Given the description of an element on the screen output the (x, y) to click on. 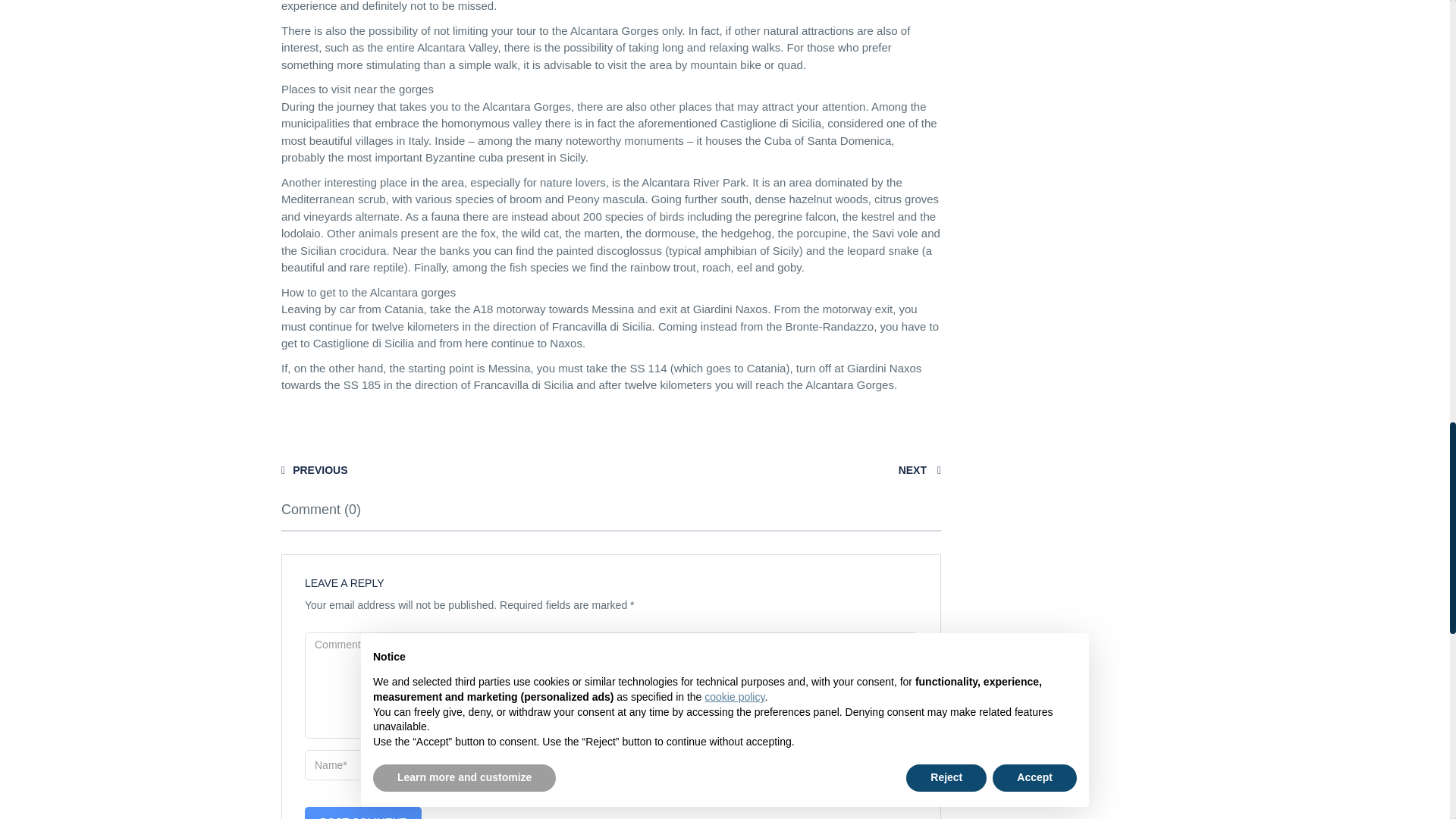
PREVIOUS (314, 469)
Post Comment (363, 812)
NEXT (919, 469)
Post Comment (363, 812)
